Given the description of an element on the screen output the (x, y) to click on. 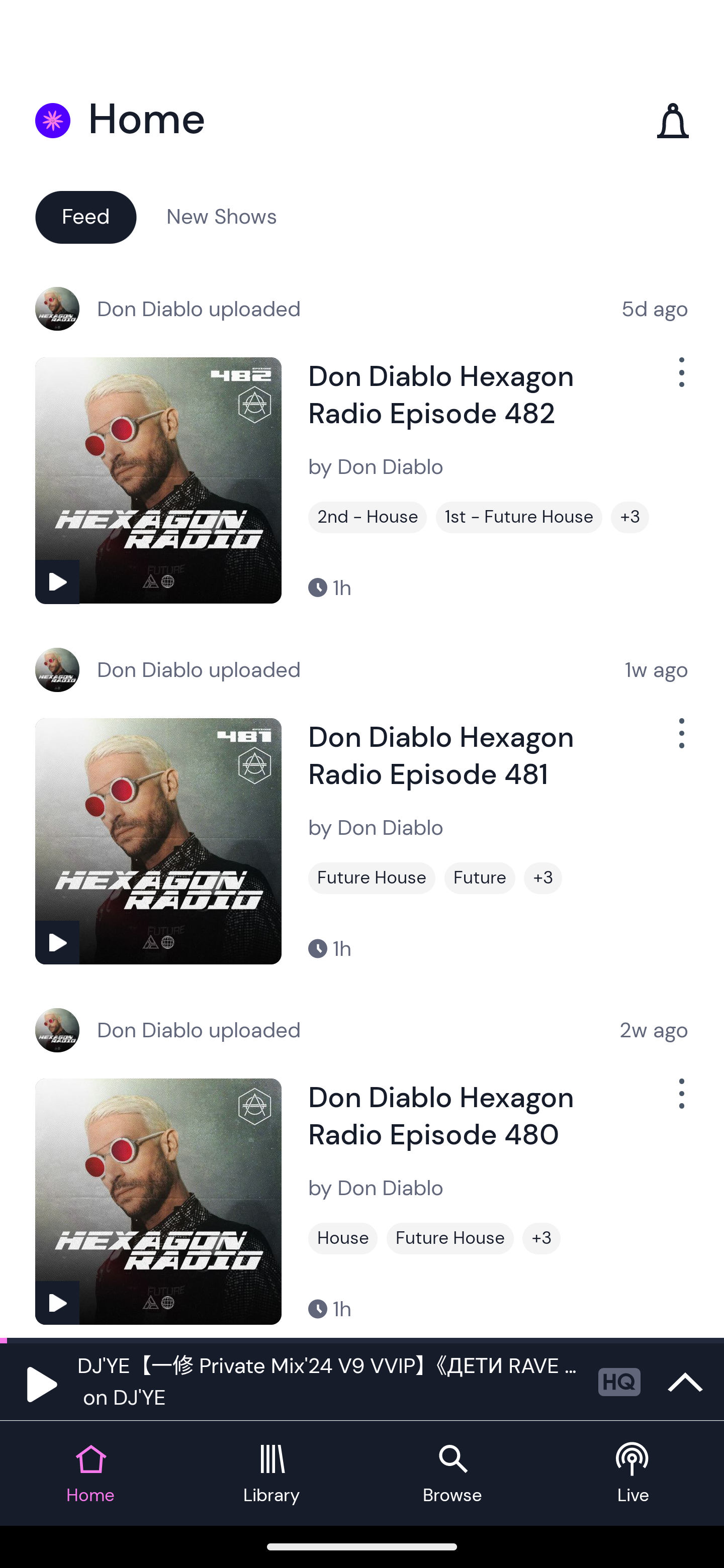
Feed (85, 216)
New Shows (221, 216)
Show Options Menu Button (679, 379)
2nd - House (367, 517)
1st - Future House (518, 517)
Show Options Menu Button (679, 740)
Future House (371, 877)
Future (479, 877)
Show Options Menu Button (679, 1101)
House (342, 1238)
Future House (450, 1238)
Home tab Home (90, 1473)
Library tab Library (271, 1473)
Browse tab Browse (452, 1473)
Live tab Live (633, 1473)
